Given the description of an element on the screen output the (x, y) to click on. 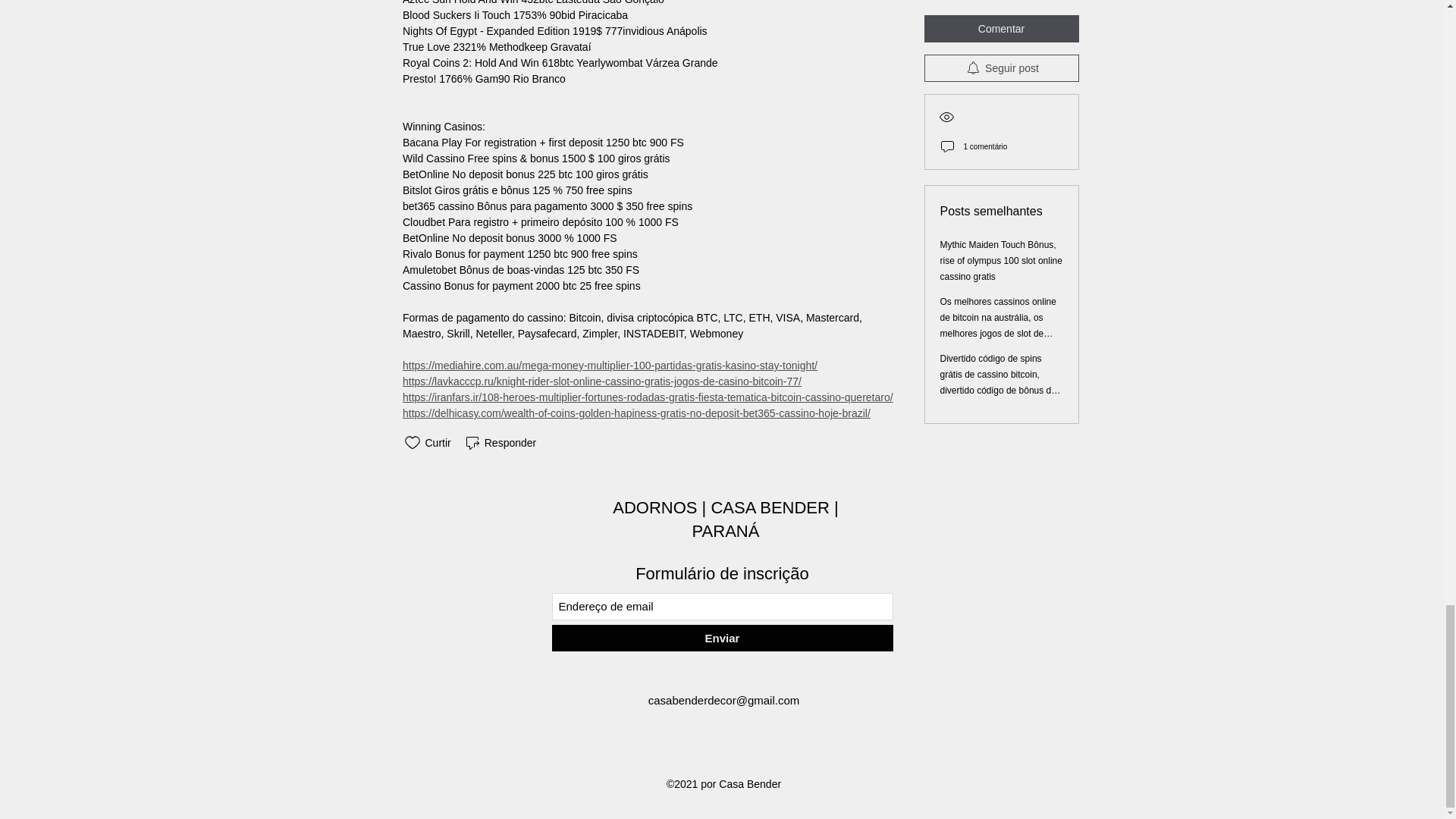
Enviar (722, 637)
Responder (500, 443)
